Given the description of an element on the screen output the (x, y) to click on. 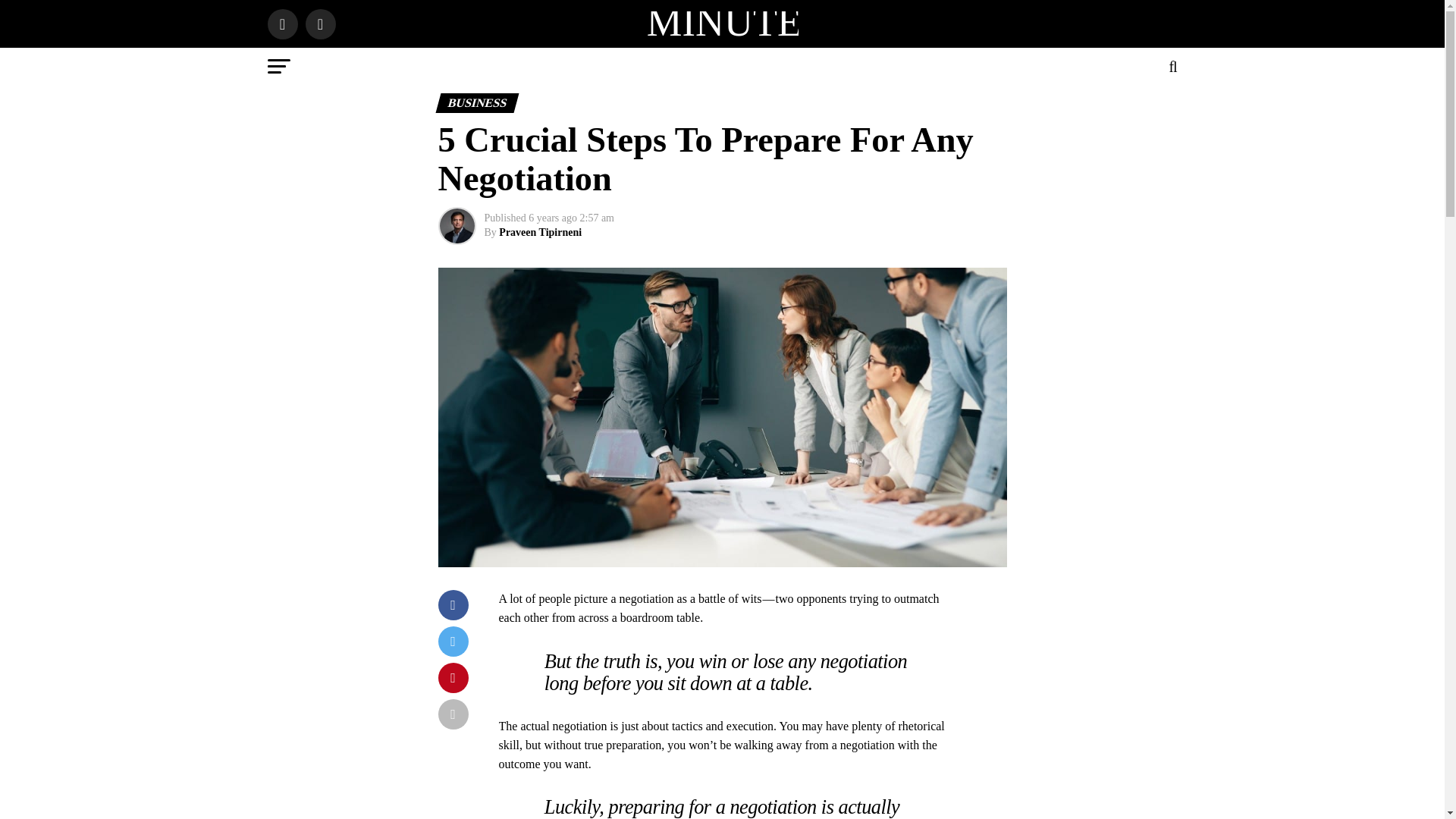
Praveen Tipirneni (539, 232)
Posts by Praveen Tipirneni (539, 232)
